Given the description of an element on the screen output the (x, y) to click on. 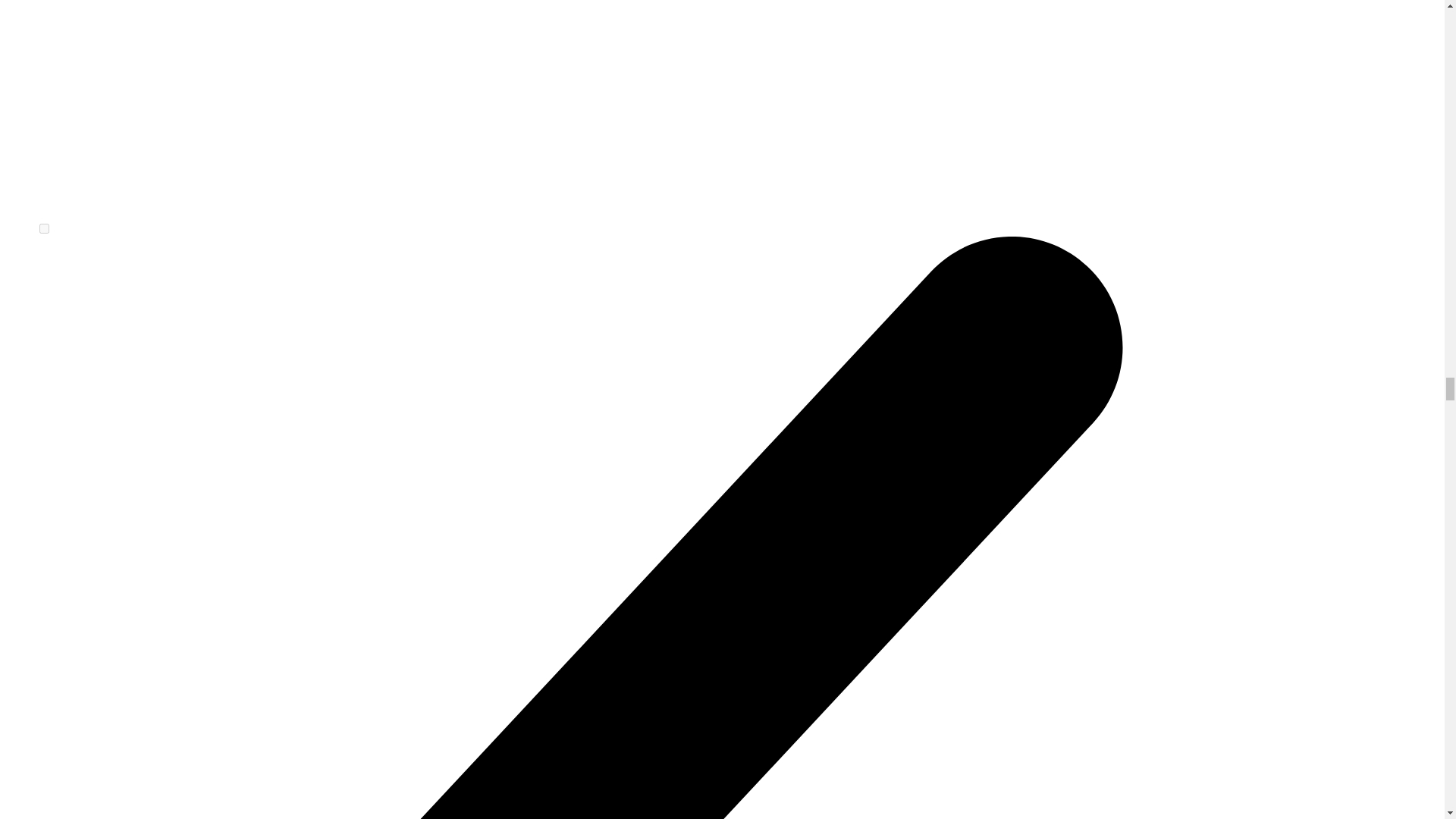
on (44, 228)
